Given the description of an element on the screen output the (x, y) to click on. 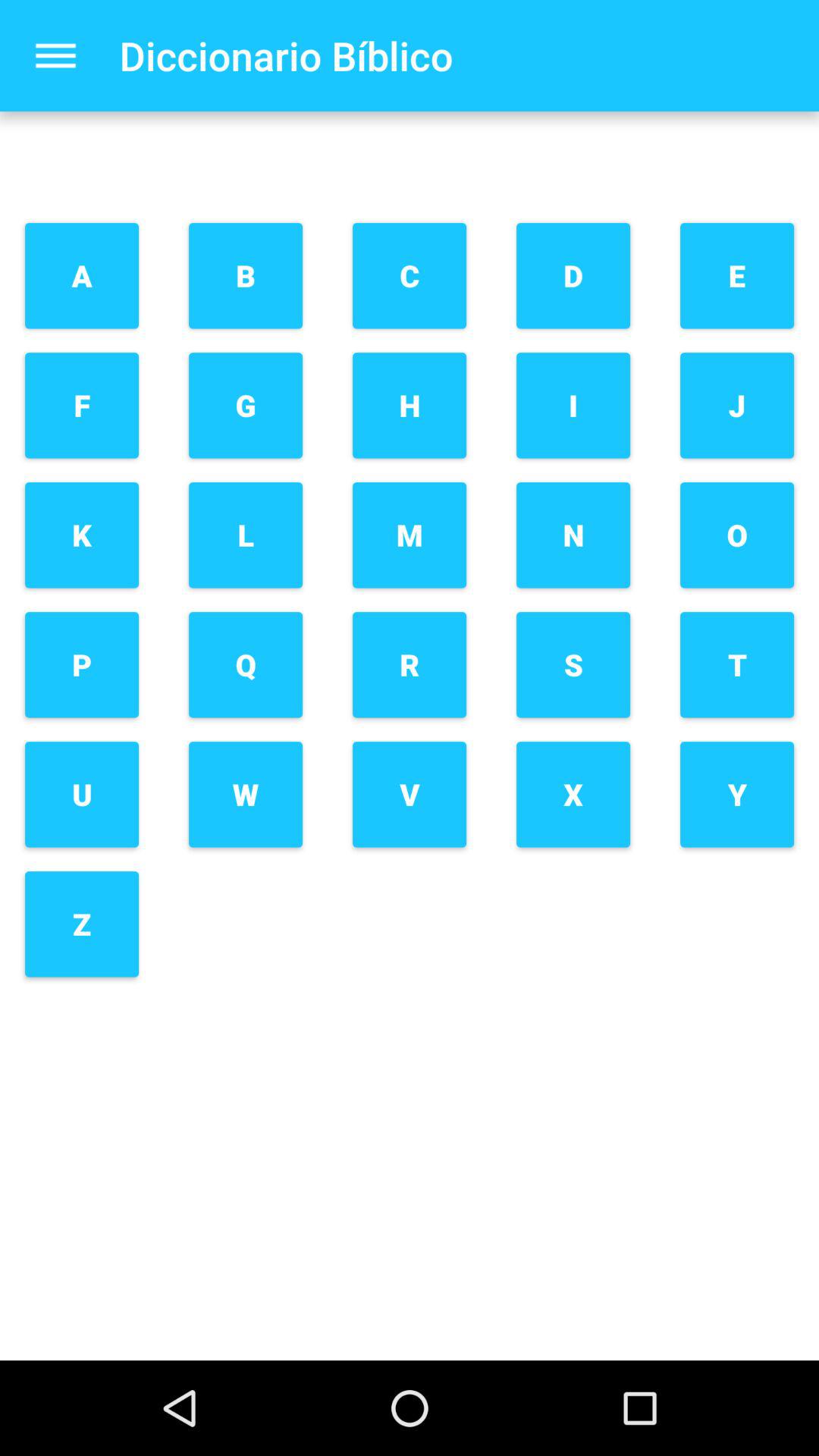
open item below b (245, 405)
